Given the description of an element on the screen output the (x, y) to click on. 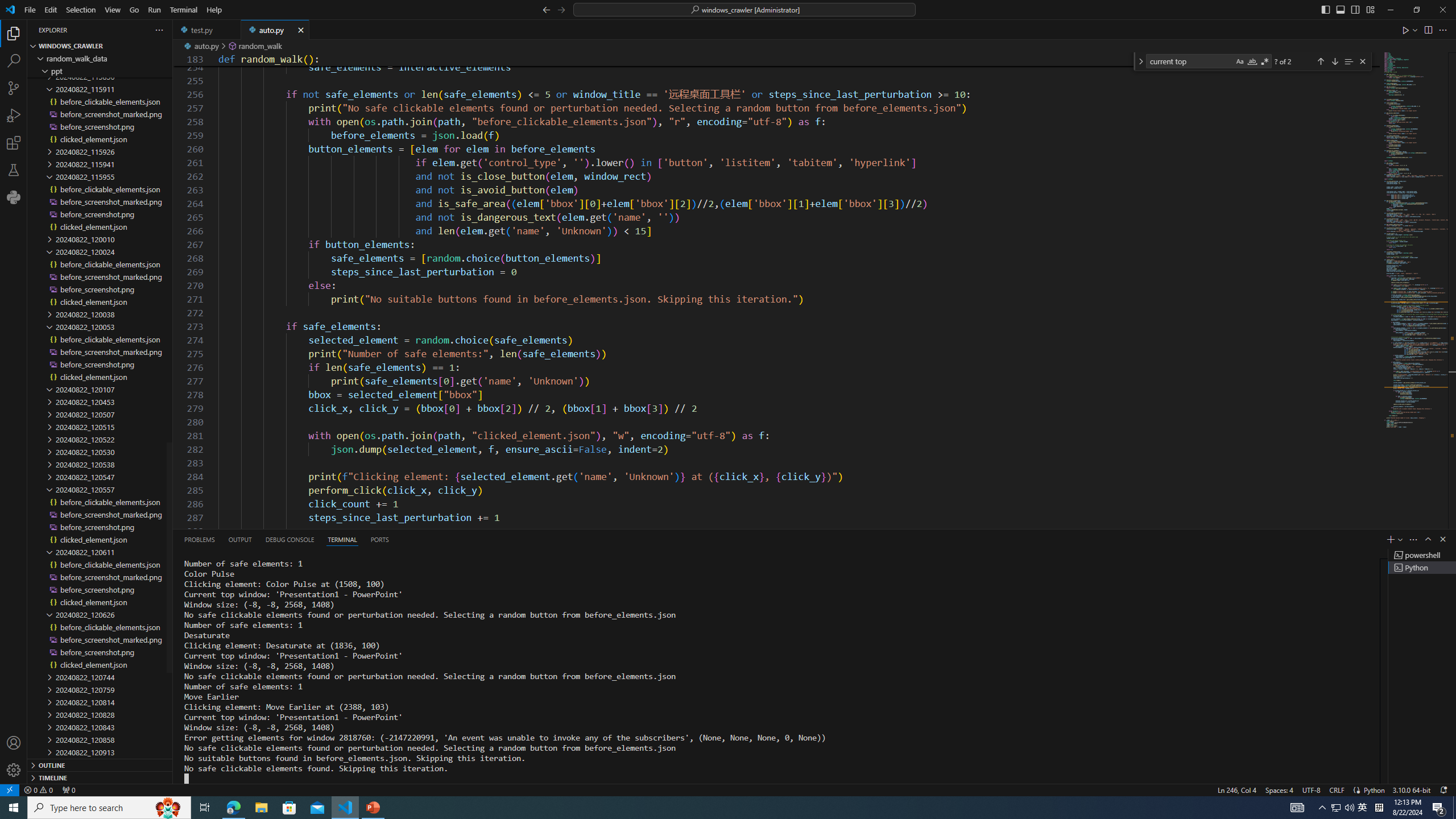
Terminal 2 Python (1422, 567)
Match Whole Word (Alt+W) (1251, 61)
Terminal (Ctrl+`) (342, 539)
Ports (380, 539)
Source Control (Ctrl+Shift+G) (13, 87)
No Ports Forwarded (68, 789)
Spaces: 4 (1278, 789)
Go Back (Alt+LeftArrow) (546, 9)
auto.py (274, 29)
Restore (1416, 9)
Hide Panel (1442, 539)
Search (Ctrl+Shift+F) (13, 60)
Debug Console (Ctrl+Shift+Y) (289, 539)
